Given the description of an element on the screen output the (x, y) to click on. 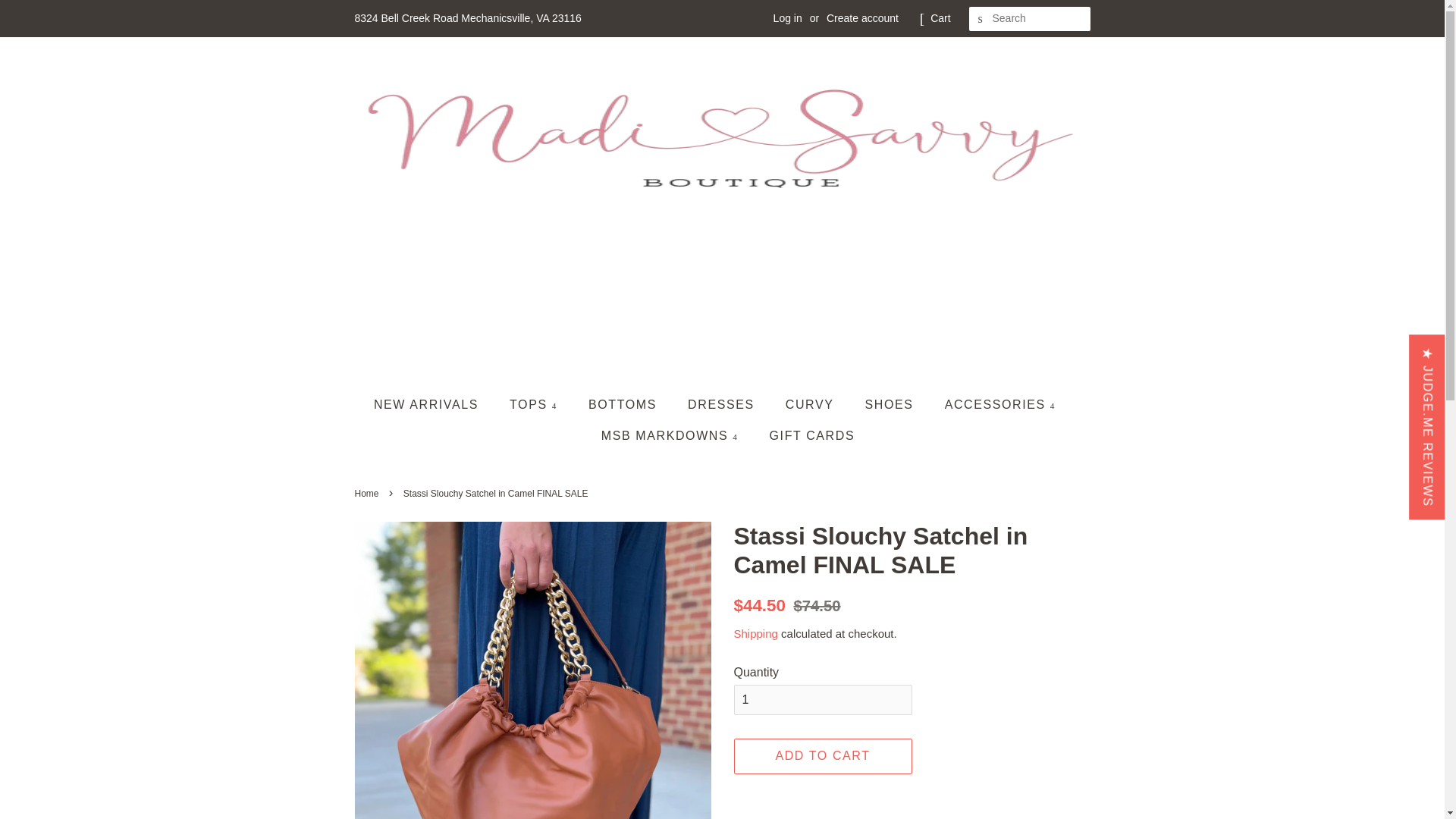
Cart (940, 18)
8324 Bell Creek Road Mechanicsville, VA 23116 (467, 18)
1 (822, 699)
Create account (862, 18)
SEARCH (980, 18)
Back to the frontpage (368, 493)
Log in (787, 18)
